Given the description of an element on the screen output the (x, y) to click on. 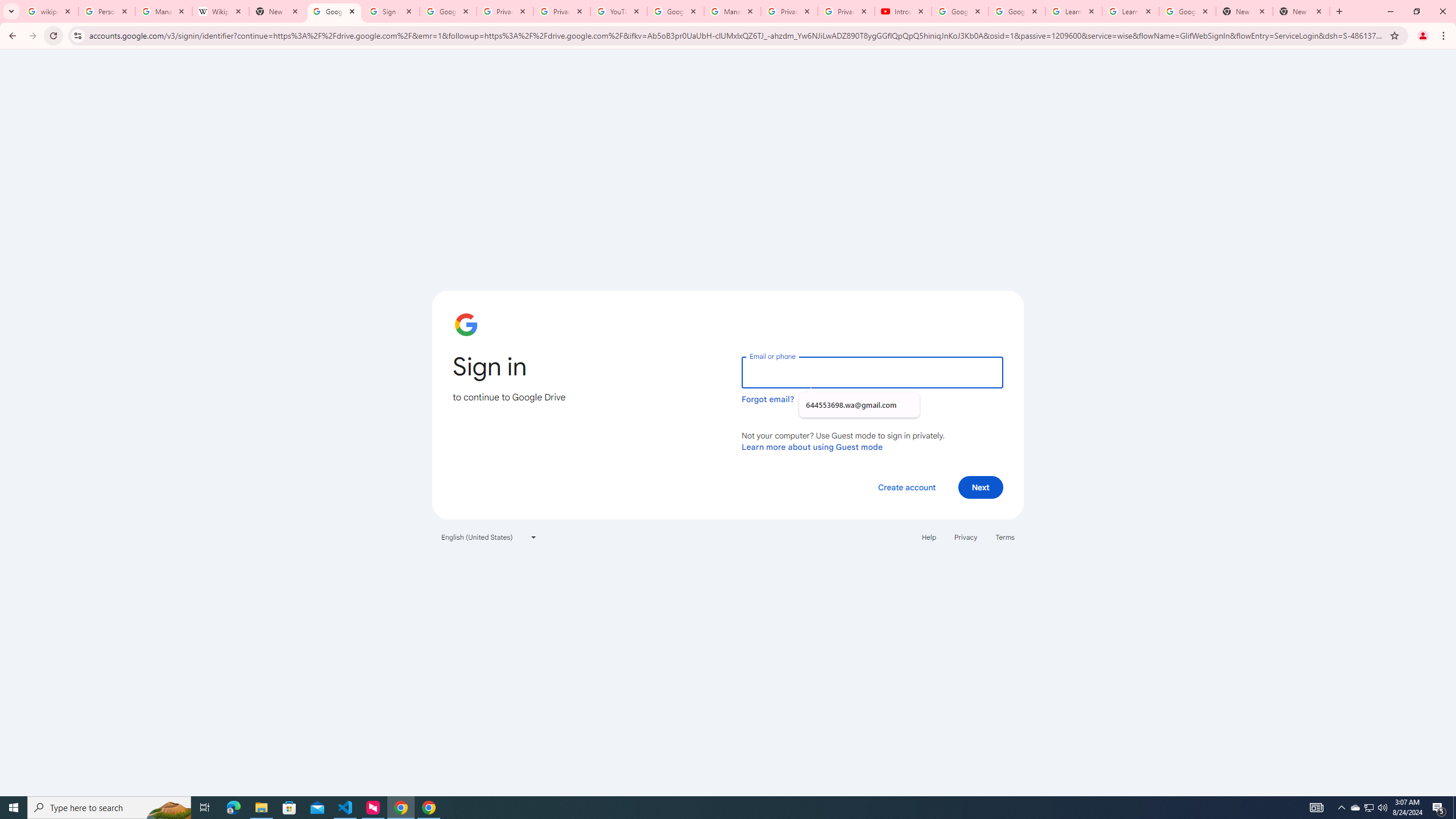
Sign in - Google Accounts (391, 11)
Google Drive: Sign-in (334, 11)
New Tab (1301, 11)
